Given the description of an element on the screen output the (x, y) to click on. 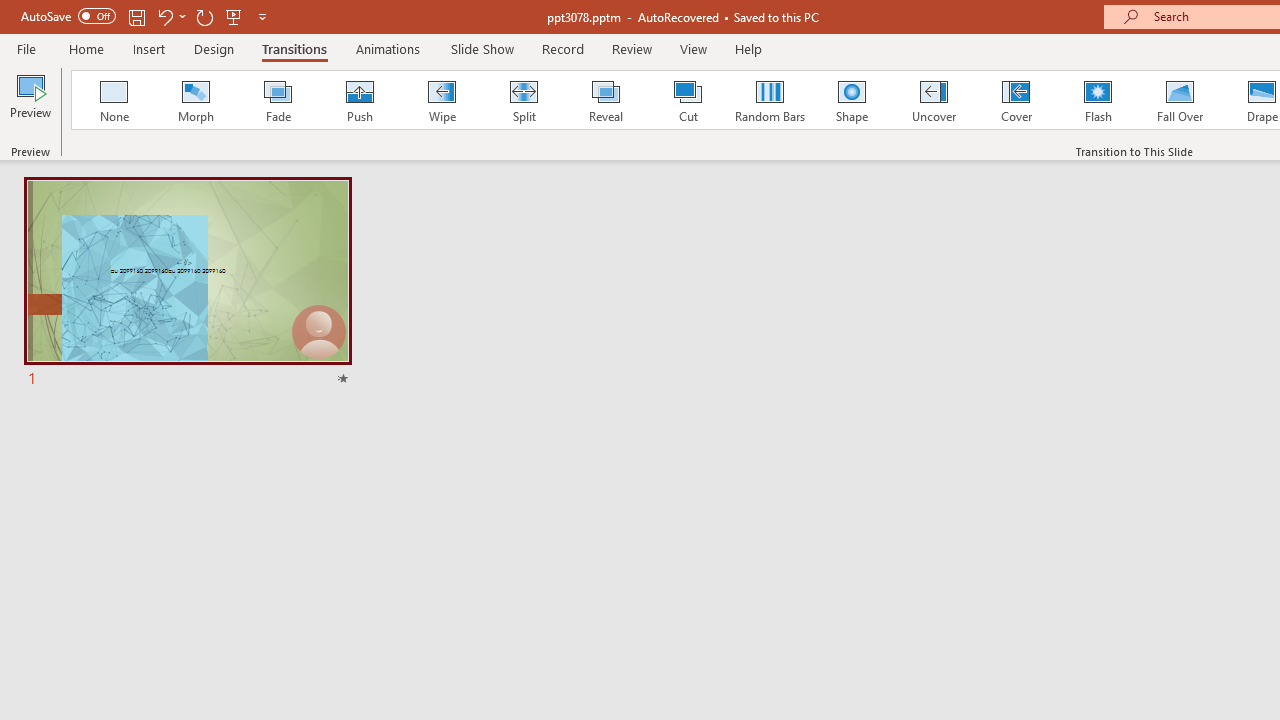
Push (359, 100)
Fade (277, 100)
None (113, 100)
Flash (1098, 100)
